Given the description of an element on the screen output the (x, y) to click on. 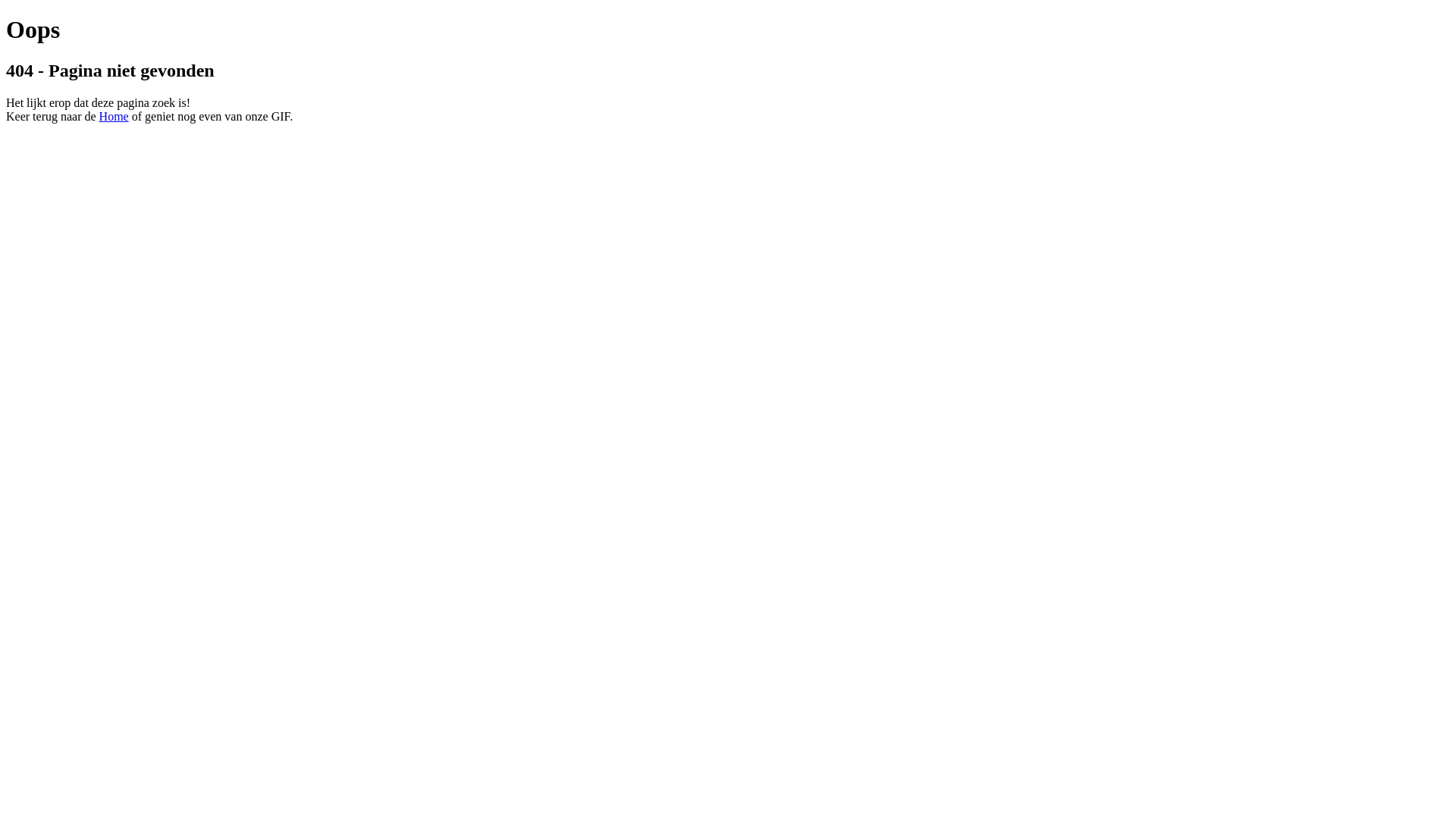
Home Element type: text (113, 115)
